Given the description of an element on the screen output the (x, y) to click on. 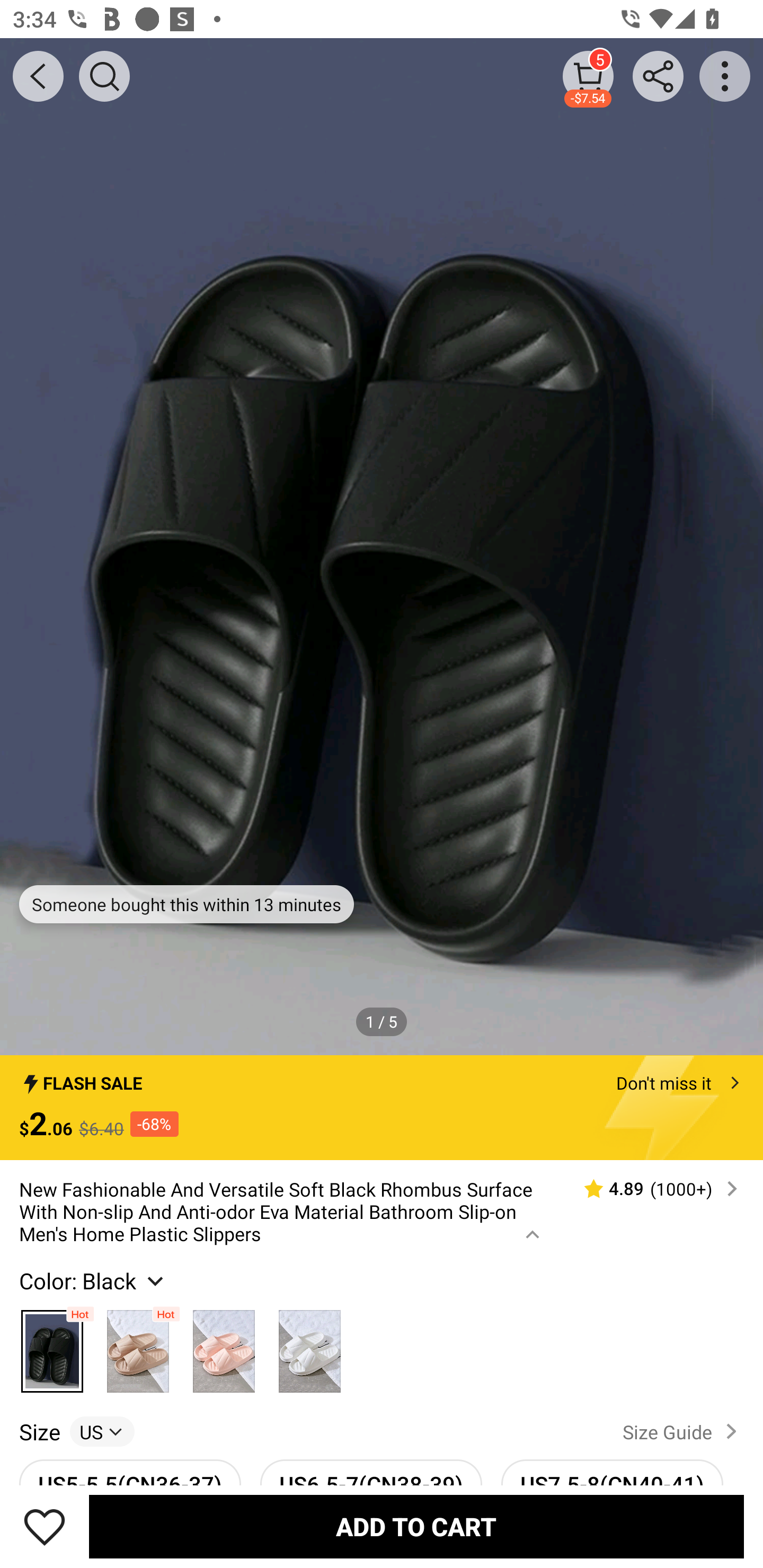
BACK (38, 75)
5 -$7.54 (588, 75)
1 / 5 (381, 1021)
FLASH SALE Don't miss it $2.06 $6.40 -68% (381, 1107)
FLASH SALE Don't miss it (381, 1077)
4.89 (1000‎+) (653, 1188)
Color: Black (93, 1280)
Black (52, 1346)
Brown (138, 1346)
Pink (224, 1346)
White (309, 1346)
Size (39, 1431)
US (102, 1431)
Size Guide (682, 1431)
ADD TO CART (416, 1526)
Save (44, 1526)
